Given the description of an element on the screen output the (x, y) to click on. 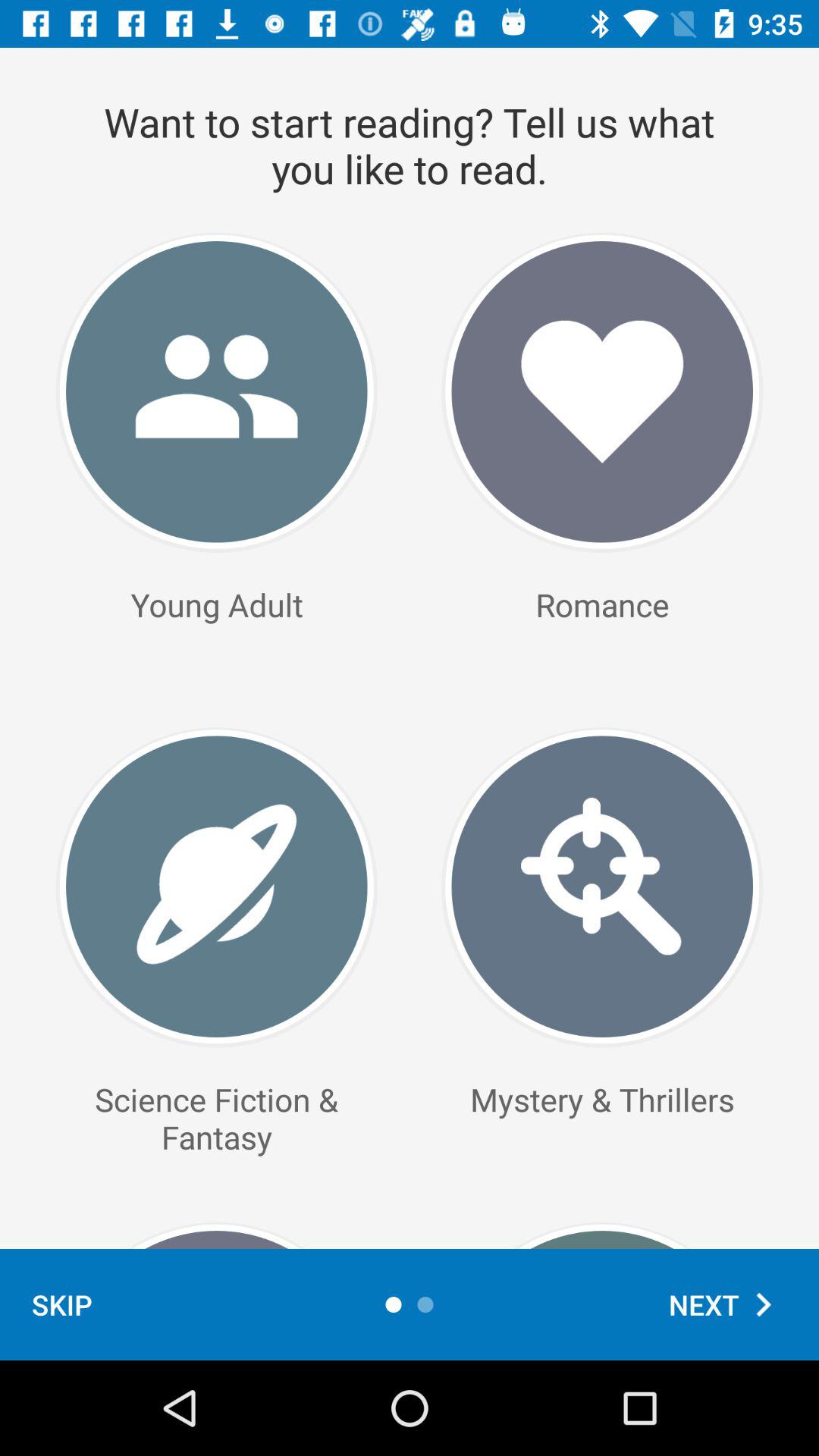
jump until next (728, 1304)
